Given the description of an element on the screen output the (x, y) to click on. 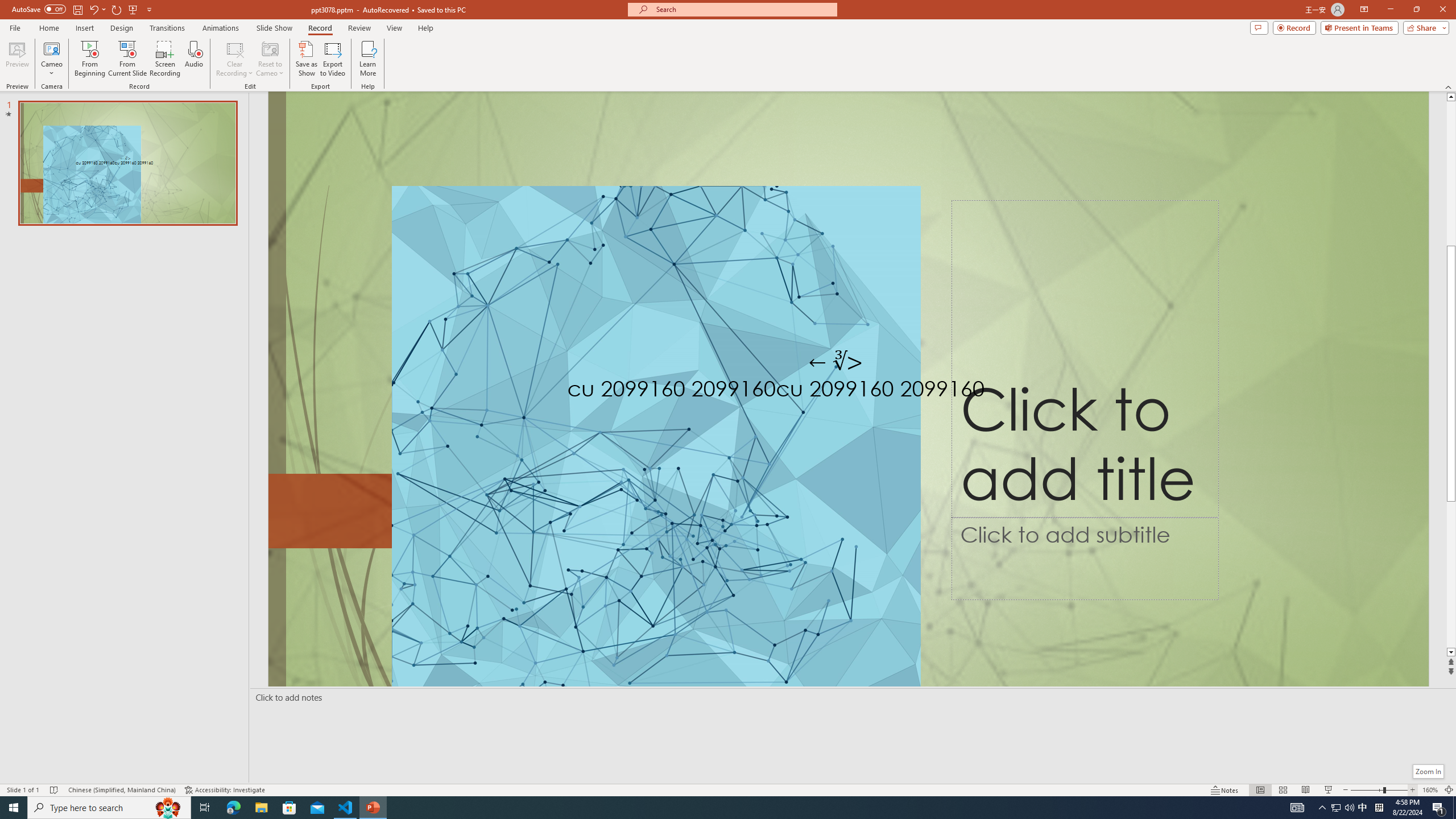
Audio (193, 58)
Zoom 160% (1430, 790)
Preview (17, 58)
Save as Show (306, 58)
